Given the description of an element on the screen output the (x, y) to click on. 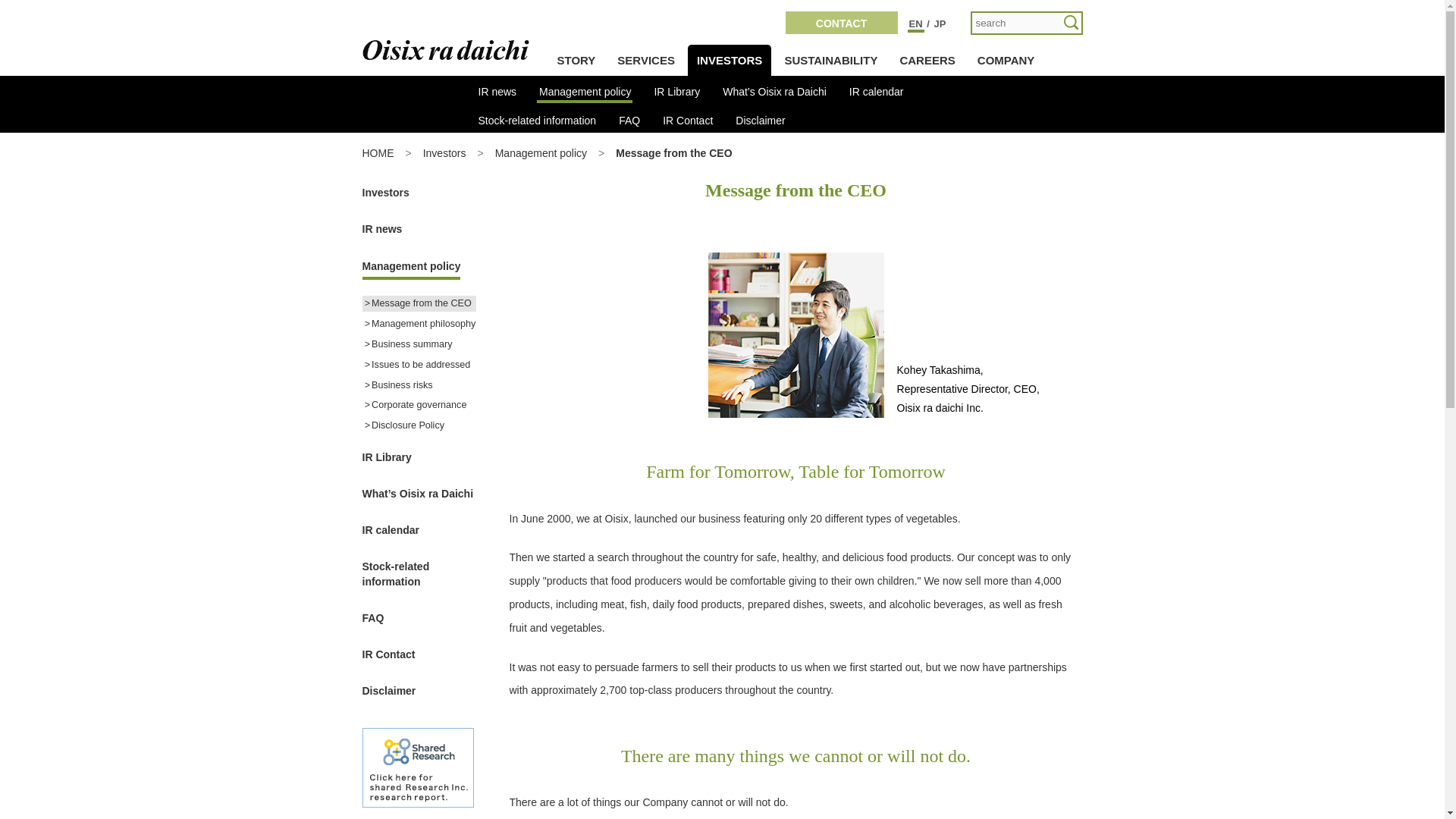
INVESTORS (729, 60)
SERVICES (646, 60)
Management policy (584, 89)
IR Library (675, 89)
STORY (575, 60)
JP (939, 23)
IR news (497, 89)
CONTACT (842, 22)
